Given the description of an element on the screen output the (x, y) to click on. 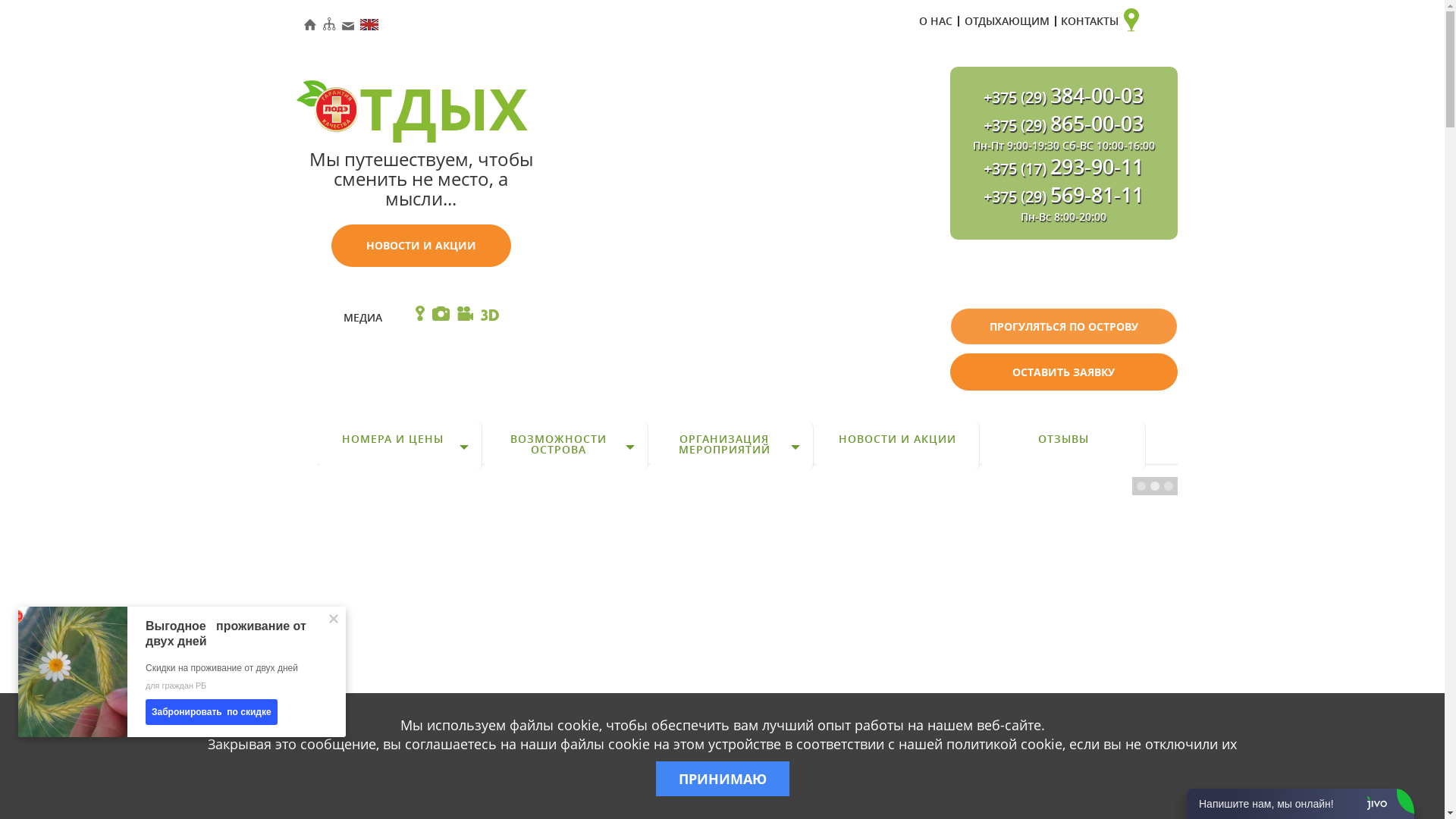
http://joomly.ru/slider Element type: hover (1165, 723)
+375 (29) 384-00-03 Element type: text (1063, 97)
+375 (29) 569-81-11 Element type: text (1063, 196)
+375 (17) 293-90-11 Element type: text (1063, 168)
+375 (29) 865-00-03 Element type: text (1063, 125)
